Given the description of an element on the screen output the (x, y) to click on. 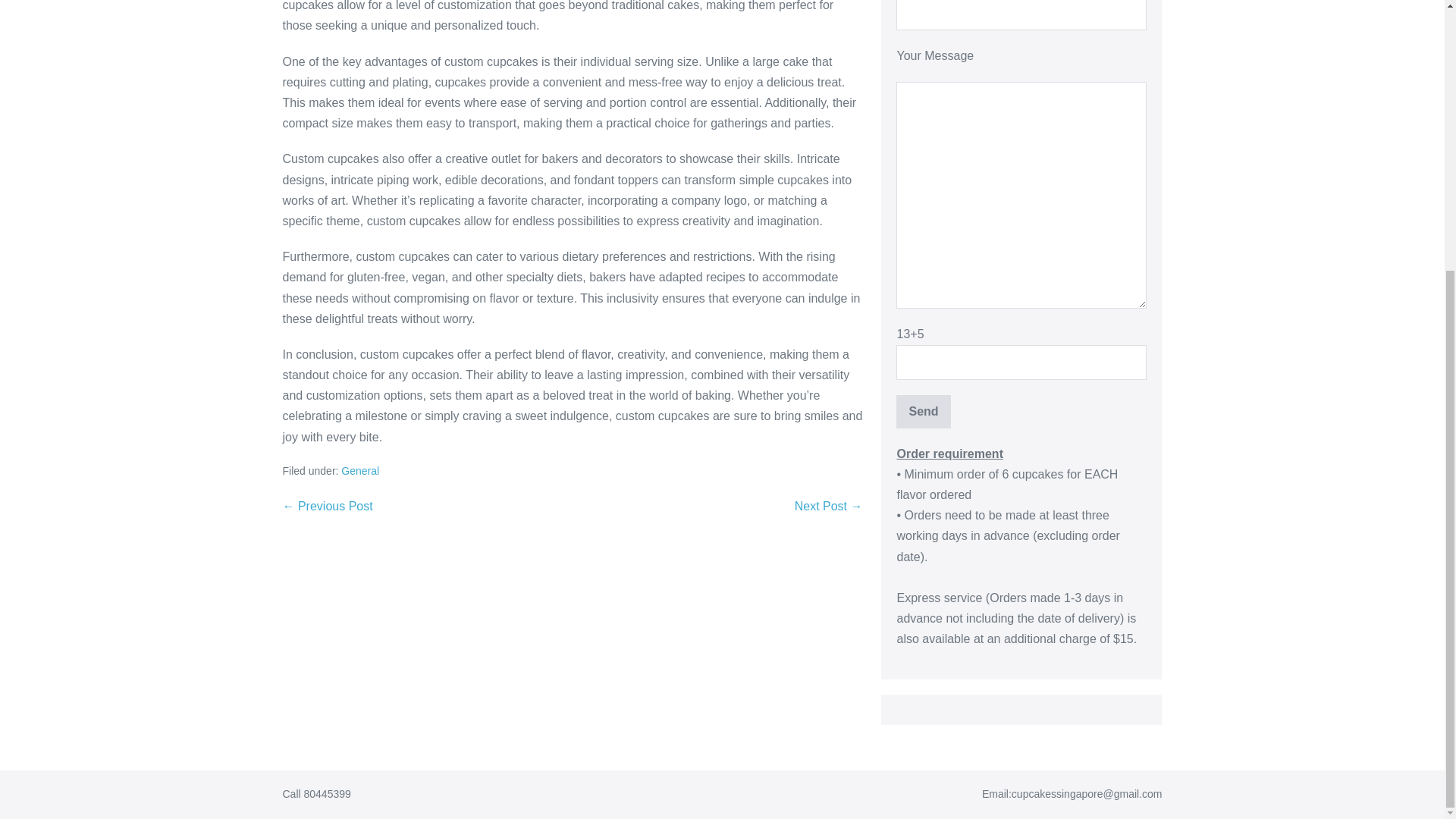
Send (923, 411)
